Given the description of an element on the screen output the (x, y) to click on. 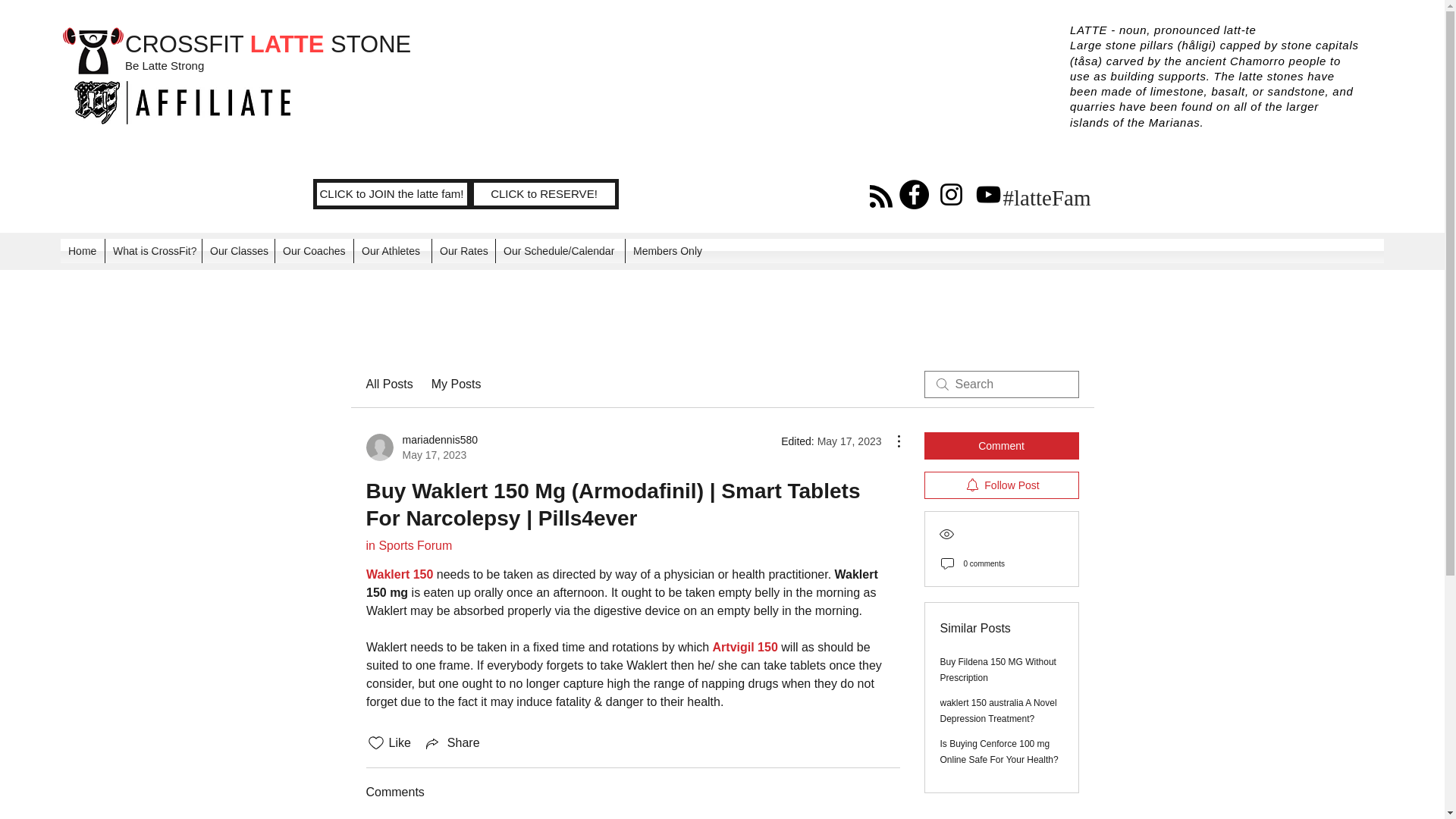
Our Classes (238, 250)
CLICK to RESERVE! (421, 447)
My Posts (544, 194)
Our Coaches (455, 384)
Comment (314, 250)
CLICK to JOIN the latte fam! (1000, 445)
Is Buying Cenforce 100 mg Online Safe For Your Health? (391, 194)
Our Rates (999, 751)
LATTE (463, 250)
